Given the description of an element on the screen output the (x, y) to click on. 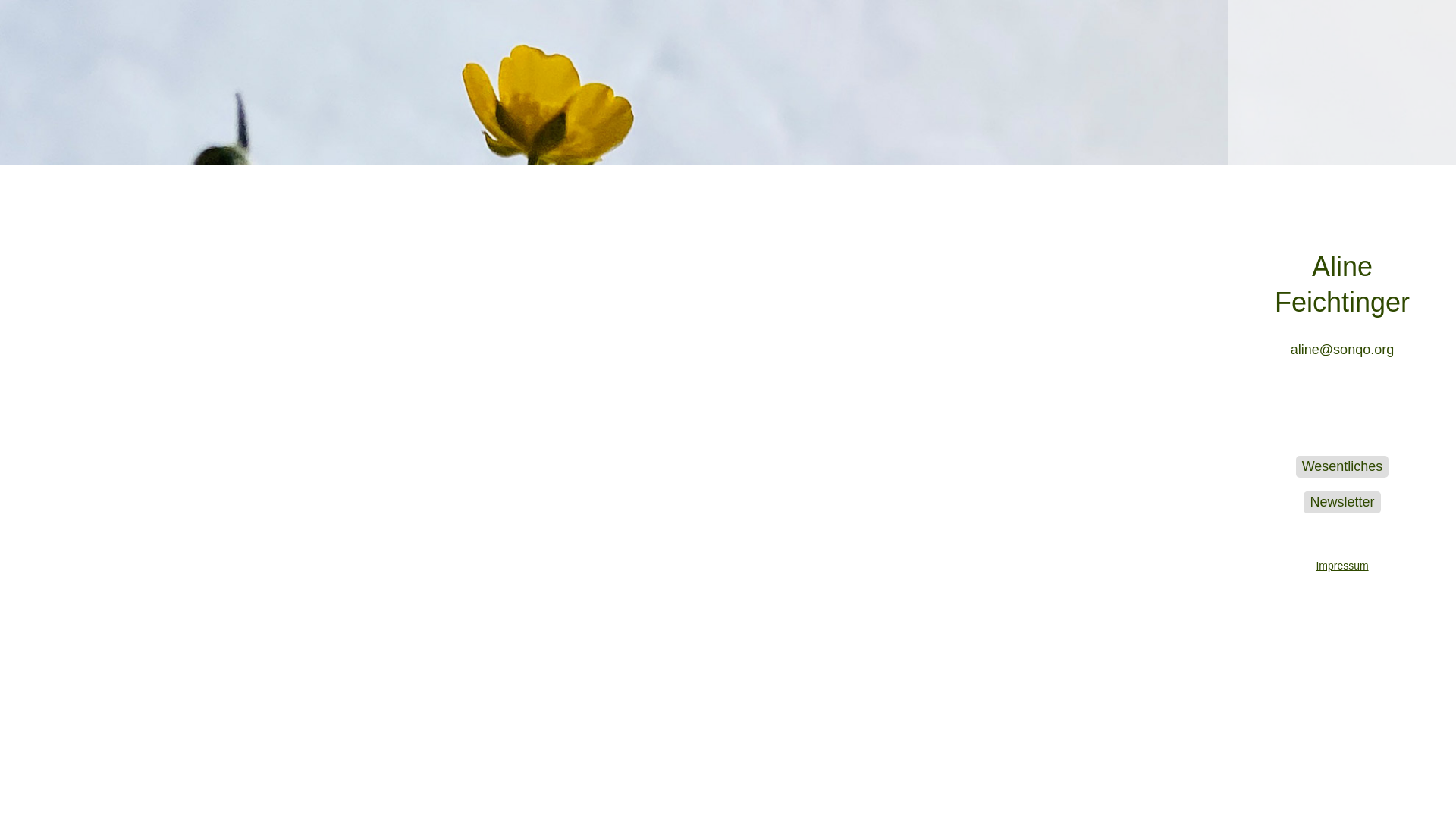
Wesentliches Element type: text (1342, 466)
aline@sonqo.org Element type: text (1341, 349)
Heart Language Translator bei Facebook Element type: hover (1291, 413)
Aline Feichtinger bei LinkedIn Element type: hover (1391, 413)
Impressum Element type: text (1341, 550)
Aline Feichtinger bei Instagram Element type: hover (1341, 413)
Newsletter Element type: text (1341, 502)
